Given the description of an element on the screen output the (x, y) to click on. 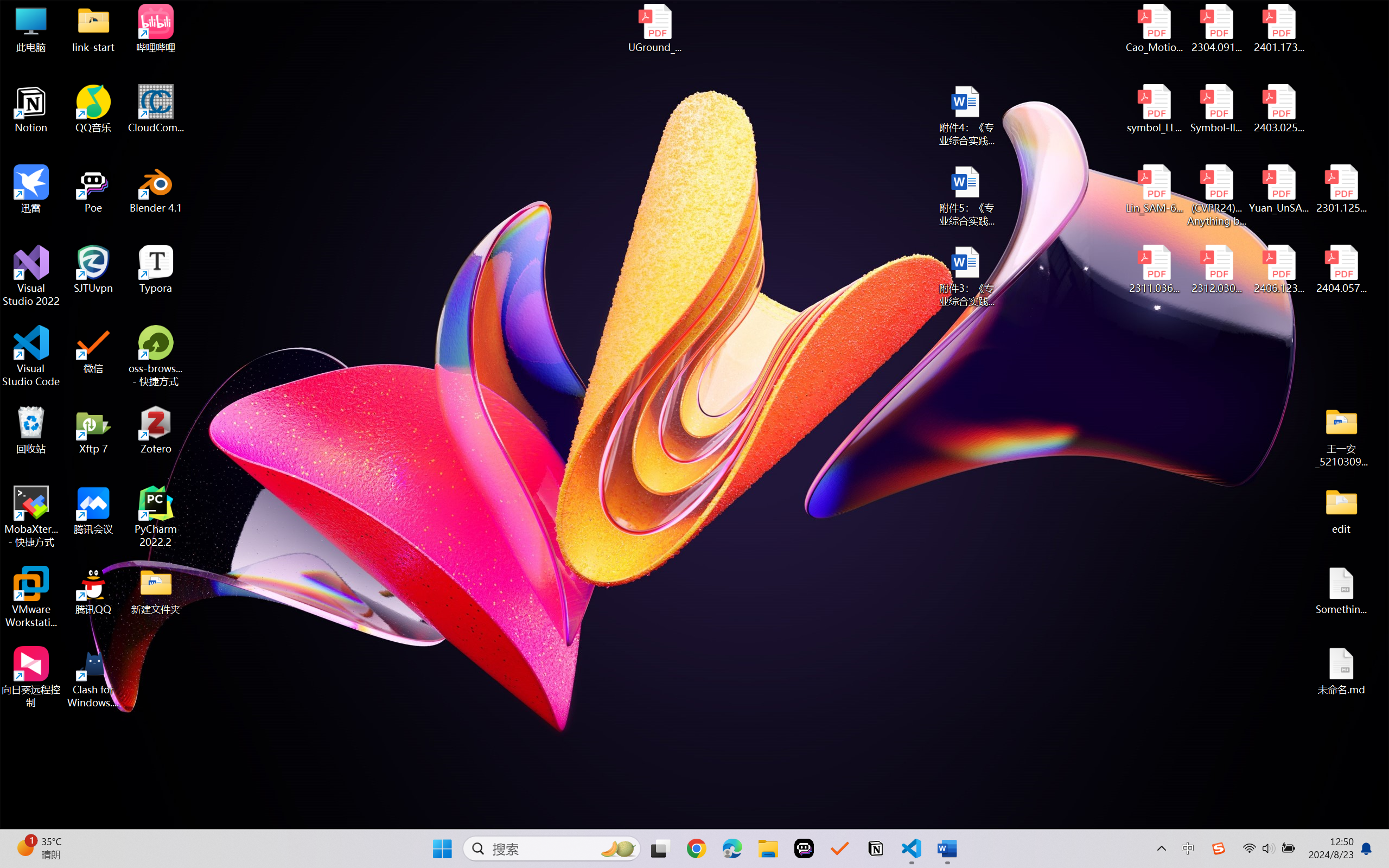
2401.17399v1.pdf (1278, 28)
2403.02502v1.pdf (1278, 109)
Xftp 7 (93, 430)
Symbol-llm-v2.pdf (1216, 109)
